Given the description of an element on the screen output the (x, y) to click on. 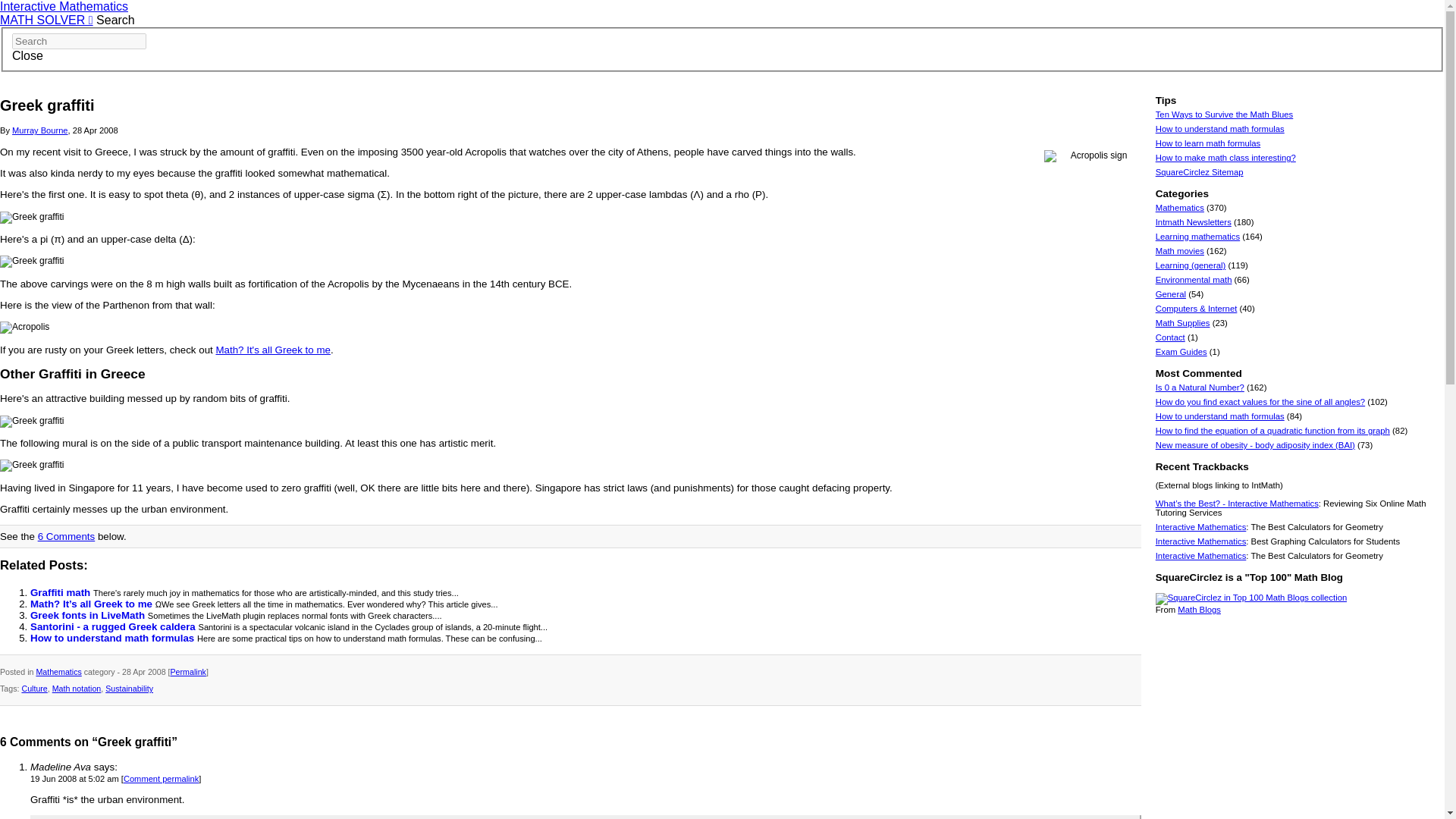
How to understand math formulas (113, 637)
Culture (33, 687)
Permalink: Greek graffiti (188, 671)
6 Comments (66, 536)
Interactive Mathematics (64, 6)
Math notation (76, 687)
Greek fonts in LiveMath (89, 614)
Permalink (188, 671)
Comment permalink (160, 777)
Santorini - a rugged Greek caldera (114, 626)
